Given the description of an element on the screen output the (x, y) to click on. 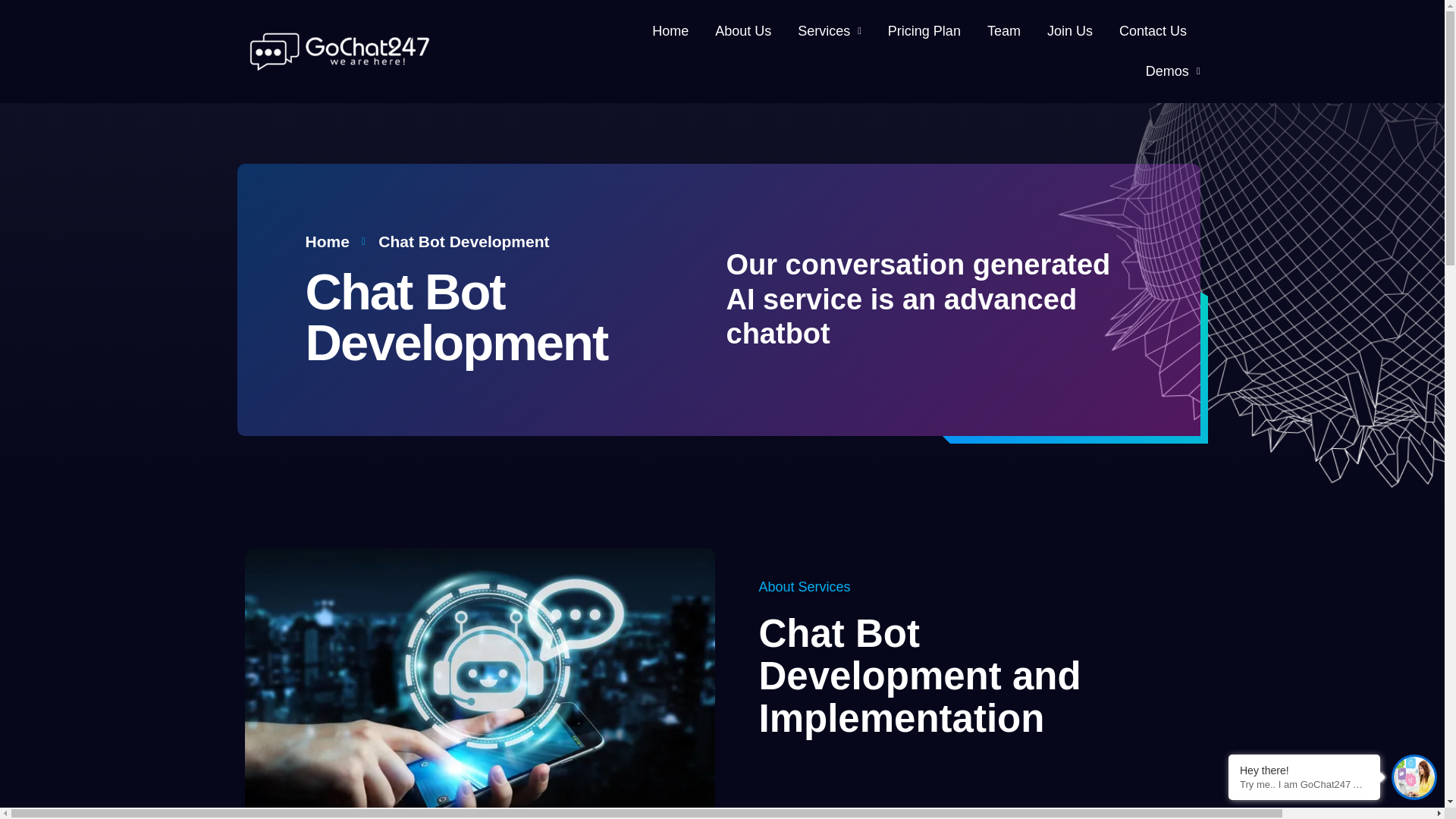
Try me.. I am GoChat247 AI-Bot (1304, 784)
Demos (1172, 71)
Team (1003, 31)
Services (829, 31)
Pricing Plan (924, 31)
About Us (742, 31)
Home (670, 31)
Join Us (1069, 31)
Hey there! (1304, 770)
Contact Us (1152, 31)
